Given the description of an element on the screen output the (x, y) to click on. 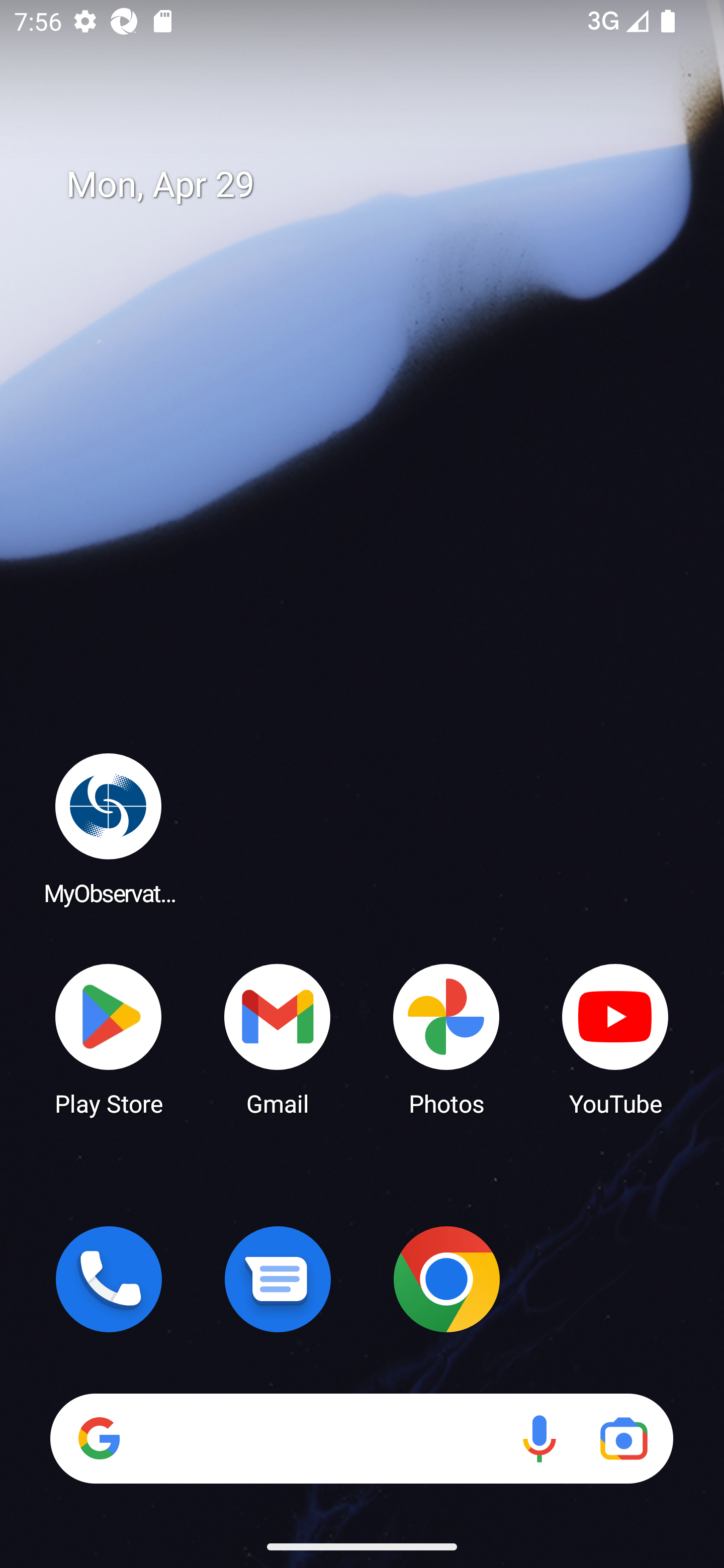
Mon, Apr 29 (375, 184)
MyObservatory (108, 828)
Play Store (108, 1038)
Gmail (277, 1038)
Photos (445, 1038)
YouTube (615, 1038)
Phone (108, 1279)
Messages (277, 1279)
Chrome (446, 1279)
Voice search (539, 1438)
Google Lens (623, 1438)
